Given the description of an element on the screen output the (x, y) to click on. 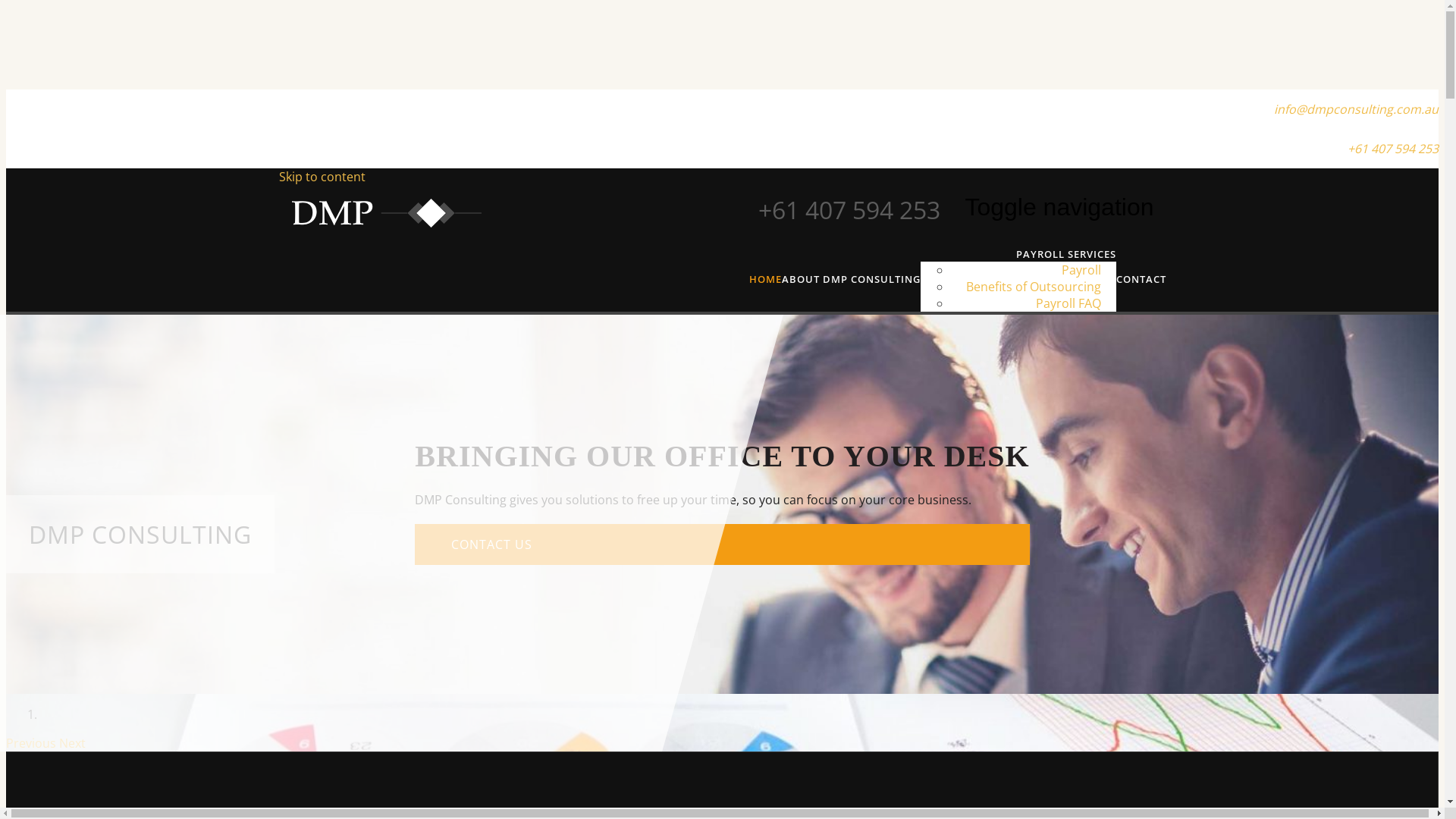
Skip to content Element type: text (322, 176)
CONTACT Element type: text (1141, 278)
Next Element type: text (72, 742)
PAYROLL SERVICES Element type: text (1066, 253)
HOME Element type: text (765, 278)
Benefits of Outsourcing Element type: text (1033, 286)
ABOUT DMP CONSULTING Element type: text (850, 278)
+61 407 594 253 Element type: text (1392, 148)
Previous Element type: text (32, 742)
Payroll Element type: text (1081, 269)
Toggle navigation Element type: text (1058, 207)
Payroll FAQ Element type: text (1068, 303)
info@dmpconsulting.com.au Element type: text (1356, 108)
